Given the description of an element on the screen output the (x, y) to click on. 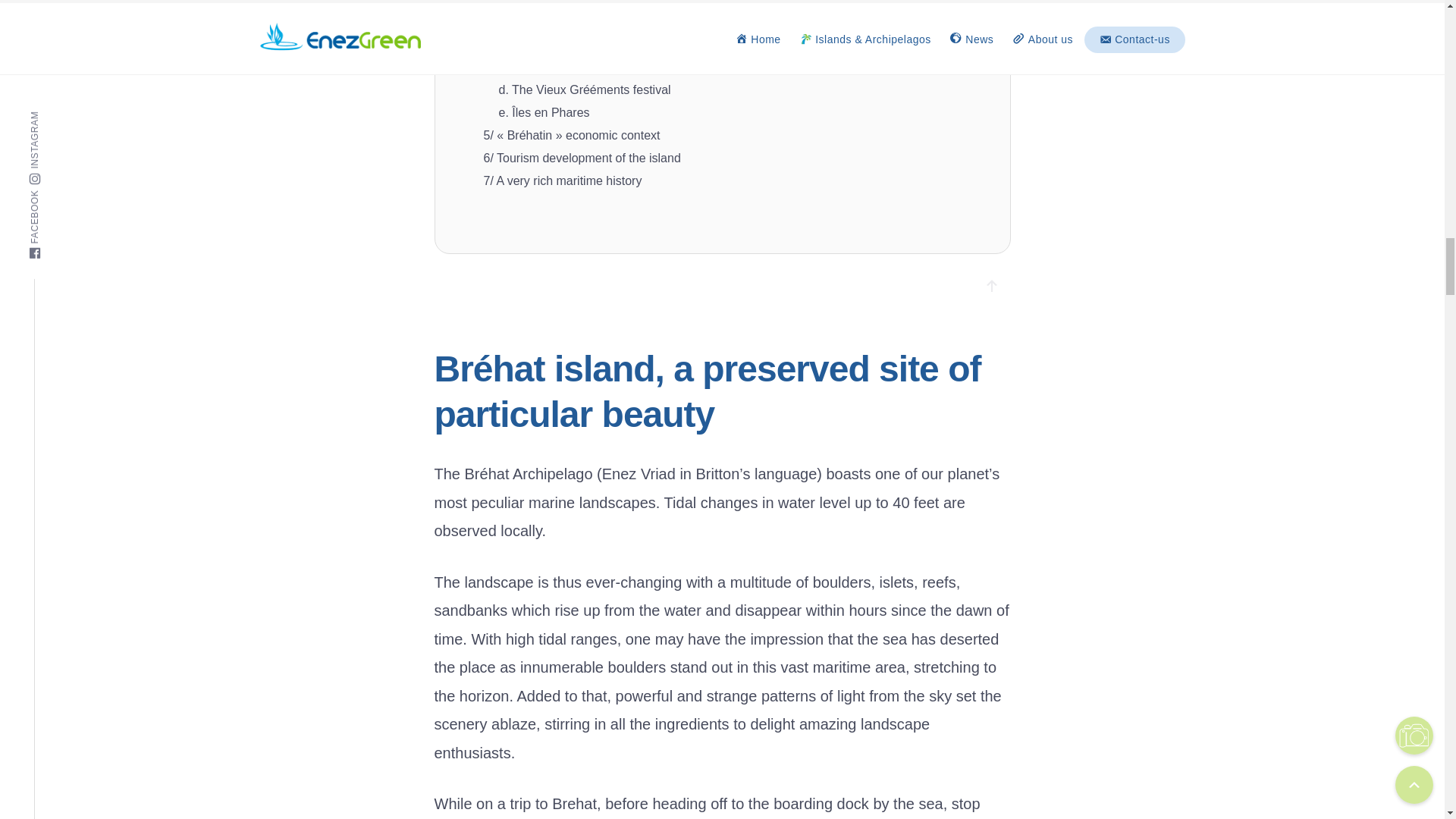
b. The Transarmoricaine (564, 44)
a. The Lilas Blancs regatta (570, 21)
